Given the description of an element on the screen output the (x, y) to click on. 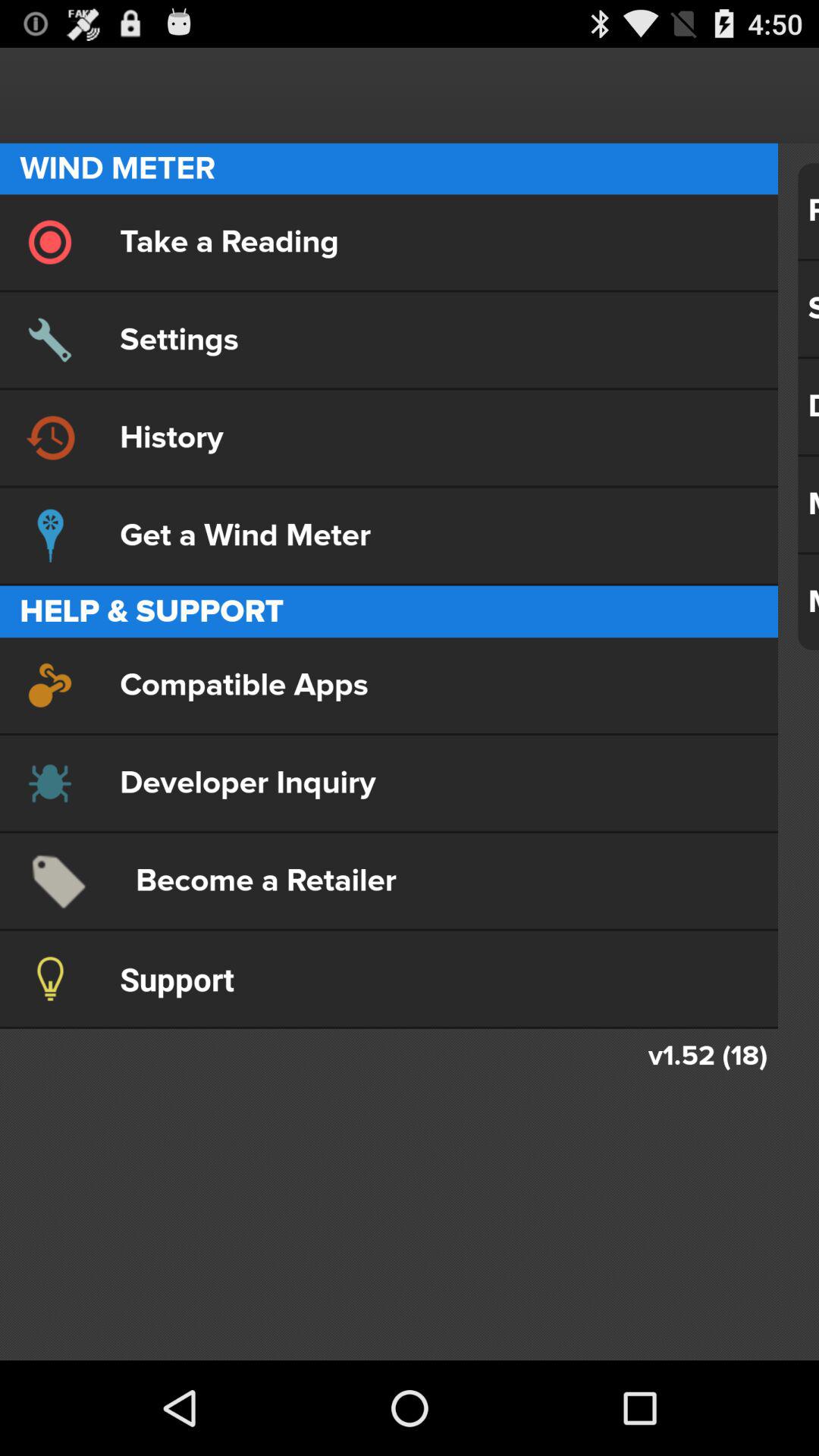
scroll until the get a wind item (389, 535)
